Given the description of an element on the screen output the (x, y) to click on. 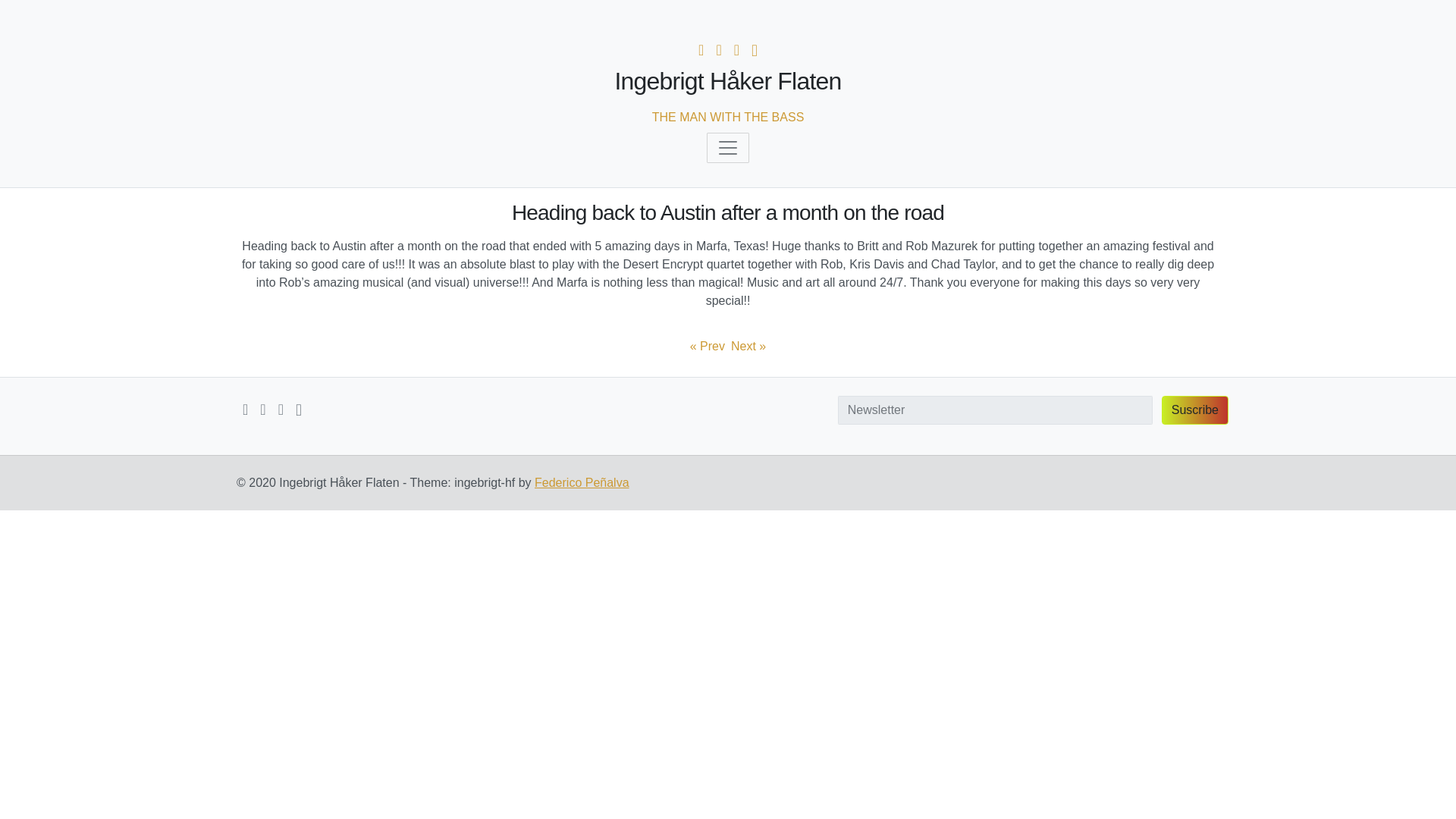
Suscribe (1194, 410)
Suscribe (1194, 410)
